Given the description of an element on the screen output the (x, y) to click on. 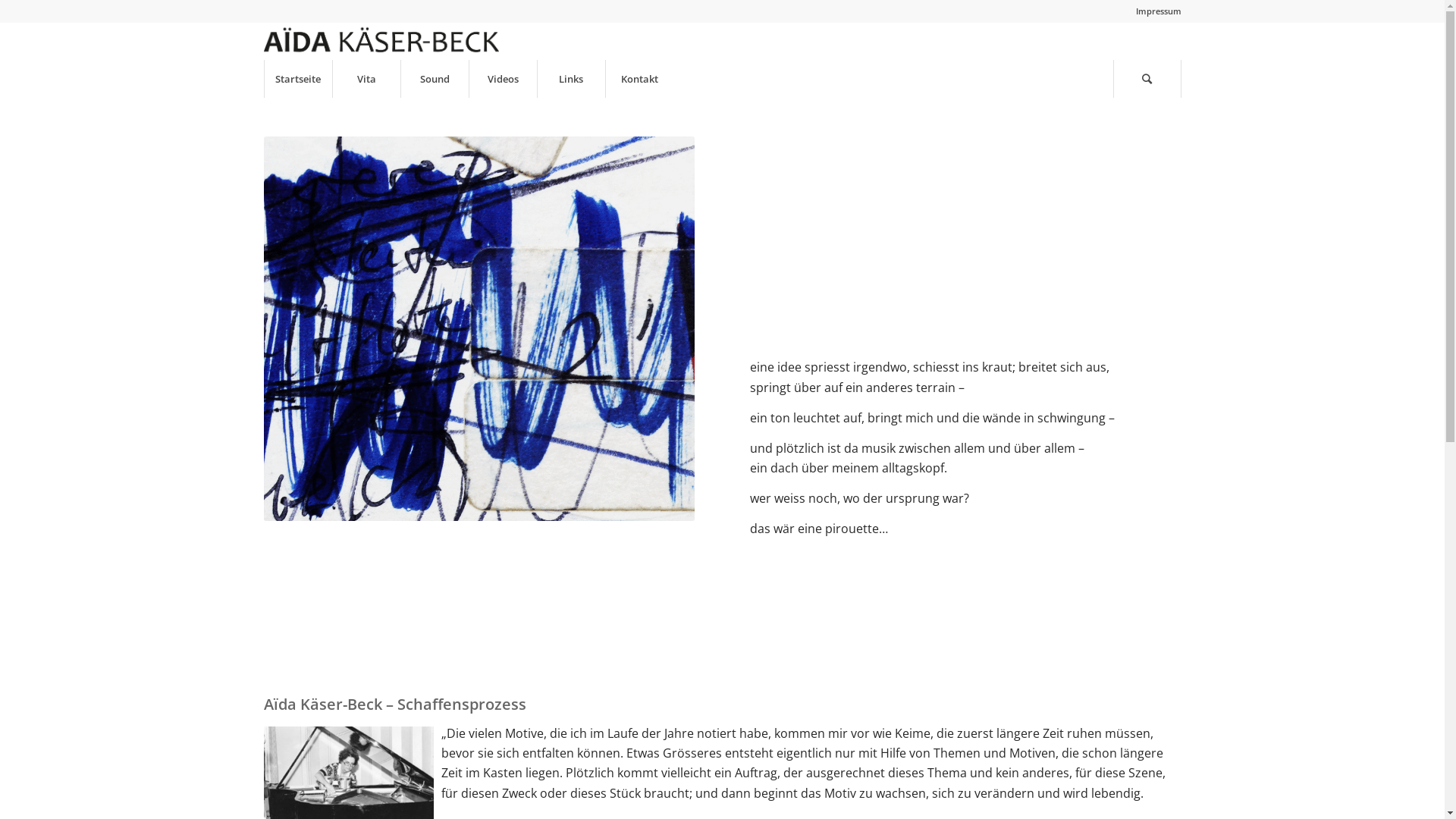
Vita Element type: text (366, 78)
Links Element type: text (570, 78)
Kontakt Element type: text (639, 78)
Sound Element type: text (434, 78)
Videos Element type: text (502, 78)
Impressum Element type: text (1158, 10)
Startseite Element type: text (297, 78)
BLAU-ok-20160816-B Element type: hover (479, 328)
